Given the description of an element on the screen output the (x, y) to click on. 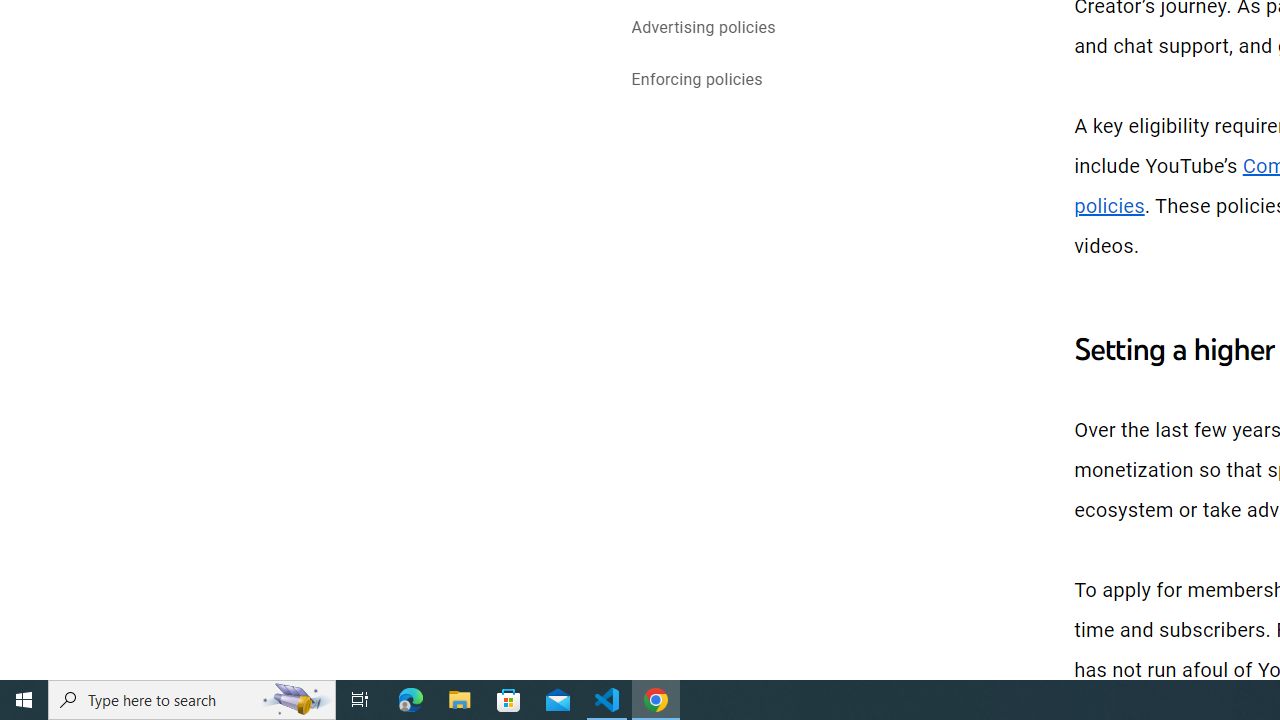
Advertising policies (703, 28)
Enforcing policies (696, 81)
